Given the description of an element on the screen output the (x, y) to click on. 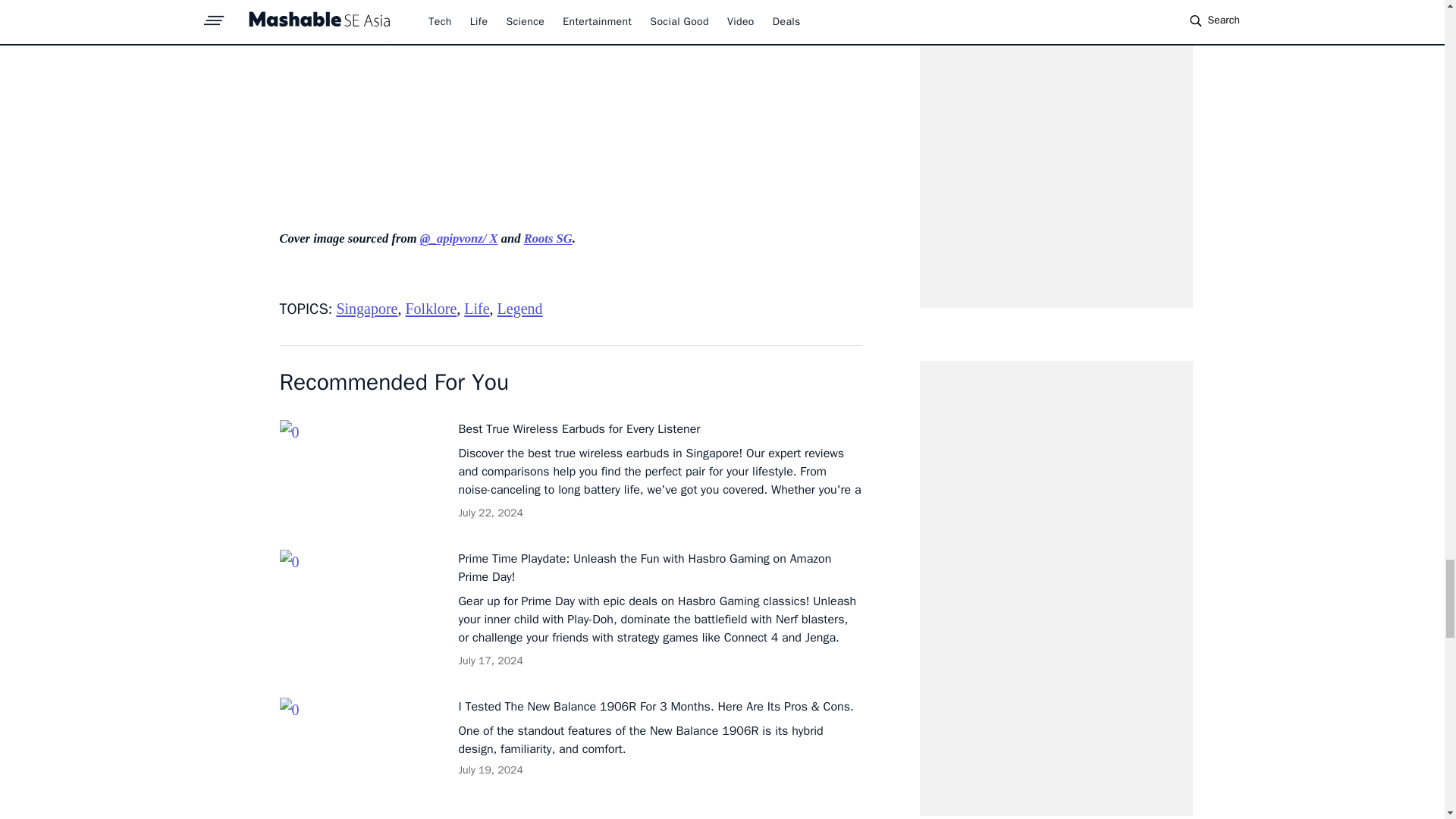
Roots SG (548, 237)
Life (476, 308)
Folklore (430, 308)
Singapore (366, 308)
Legend (520, 308)
